Given the description of an element on the screen output the (x, y) to click on. 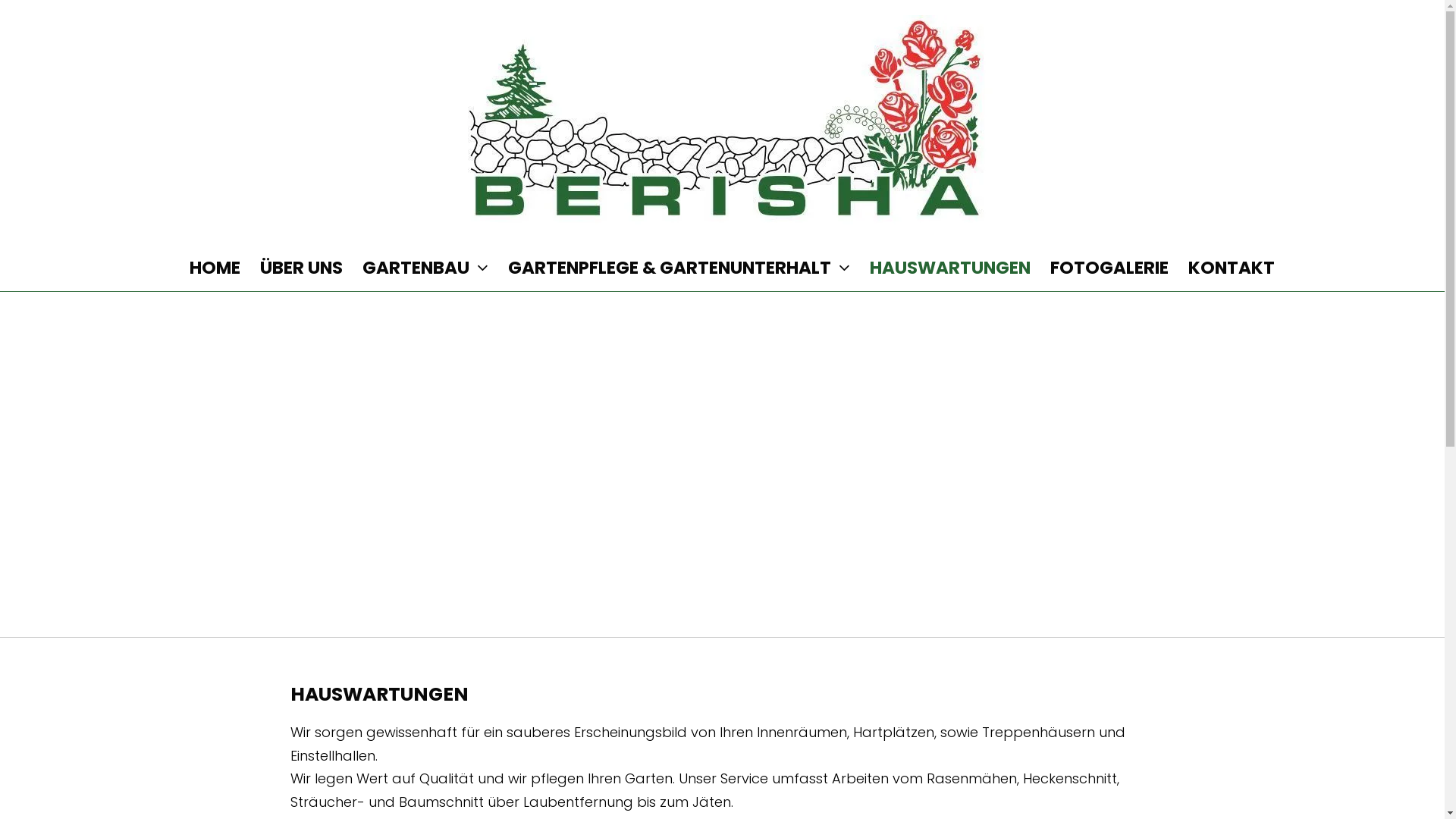
HAUSWARTUNGEN Element type: text (949, 267)
FOTOGALERIE Element type: text (1109, 267)
HOME Element type: text (214, 267)
KONTAKT Element type: text (1231, 267)
GARTENPFLEGE & GARTENUNTERHALT Element type: text (679, 267)
GARTENBAU Element type: text (425, 267)
